Given the description of an element on the screen output the (x, y) to click on. 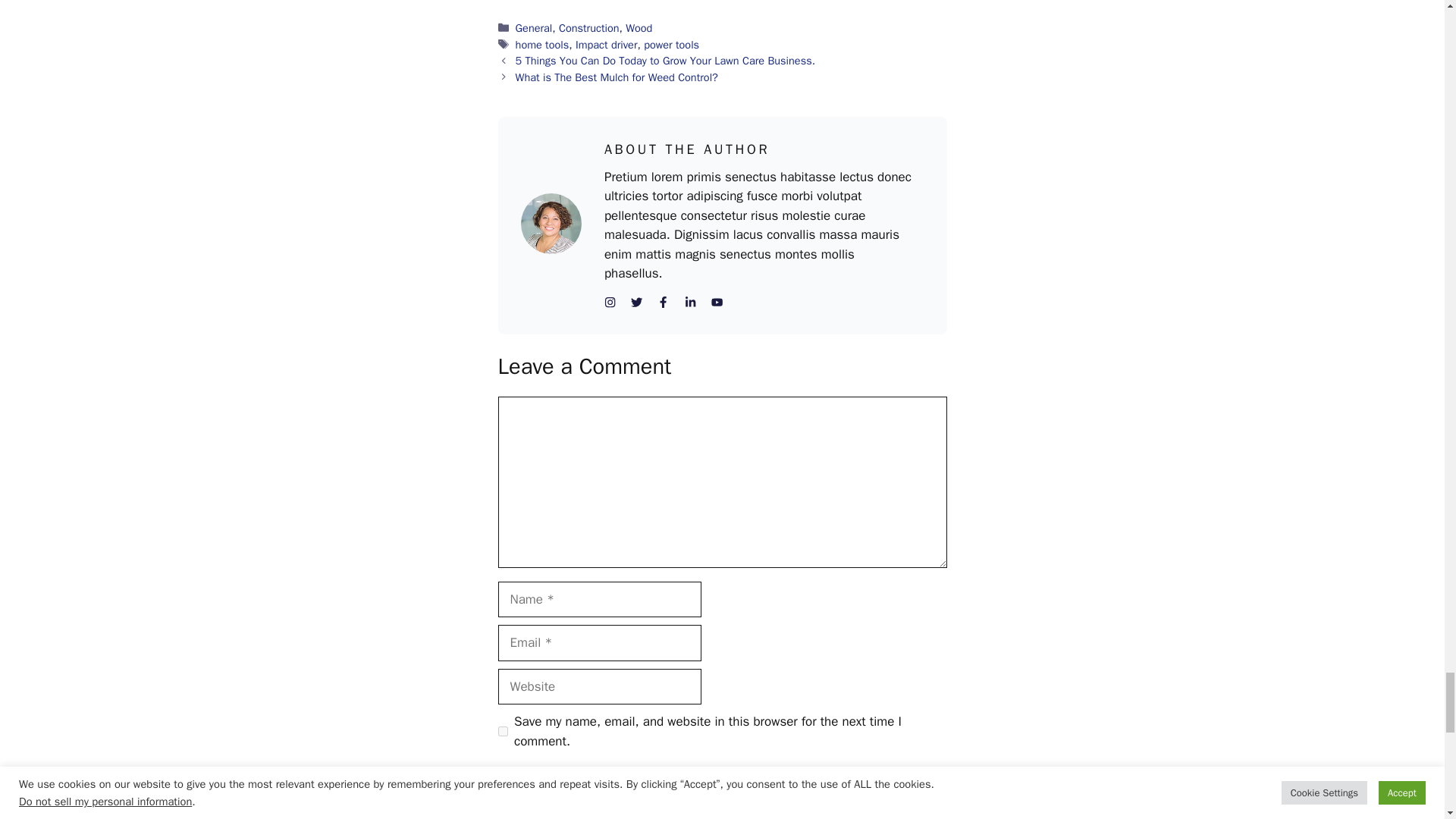
yes (501, 731)
Post Comment (559, 789)
